Given the description of an element on the screen output the (x, y) to click on. 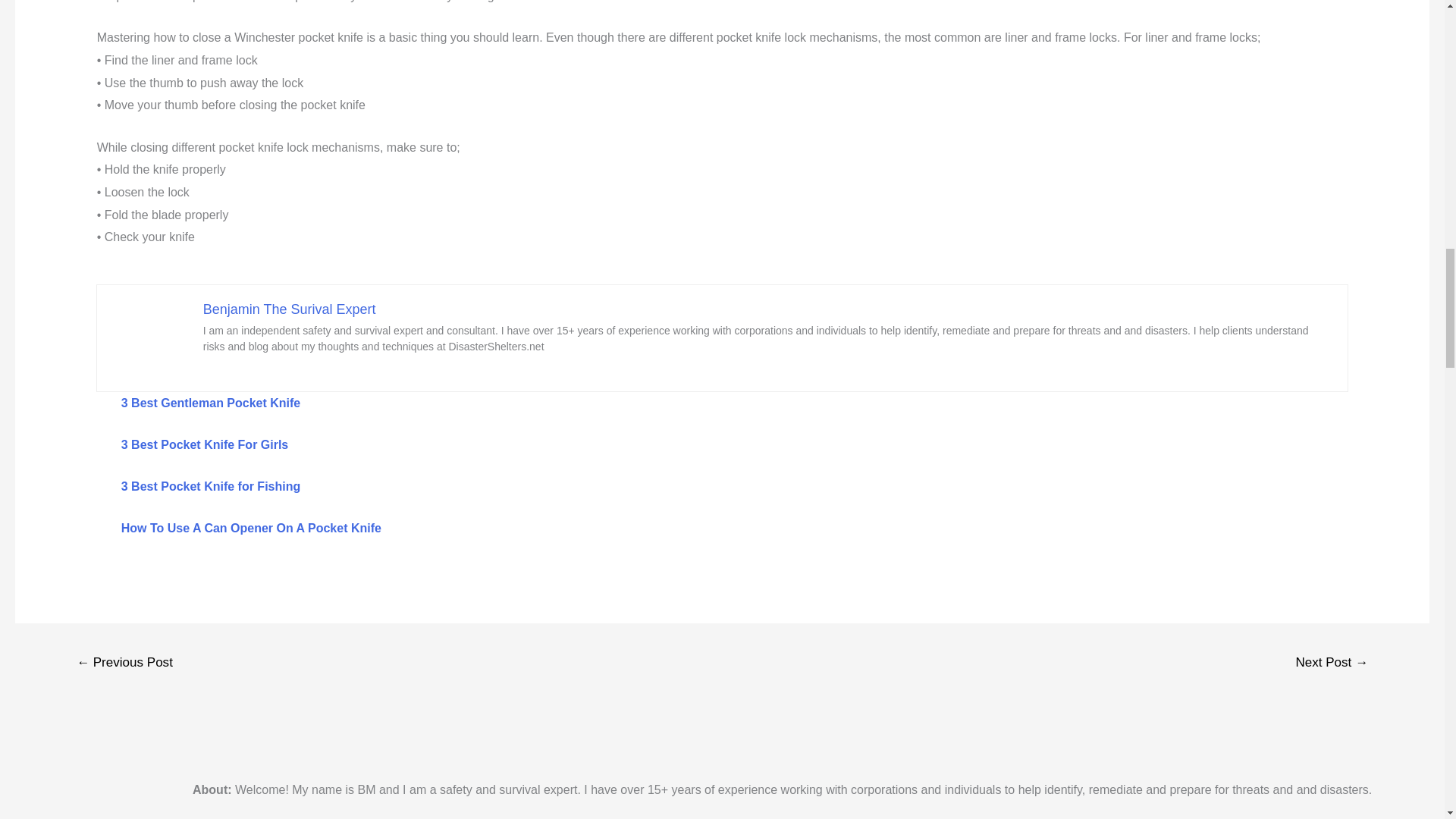
3 Best Pocket Knife for Fishing (209, 486)
How To Use A Can Opener On A Pocket Knife (250, 527)
3 Best Gentleman Pocket Knife (210, 402)
3 Best Pocket Knife For Girls (204, 444)
Benjamin The Surival Expert (289, 309)
